Given the description of an element on the screen output the (x, y) to click on. 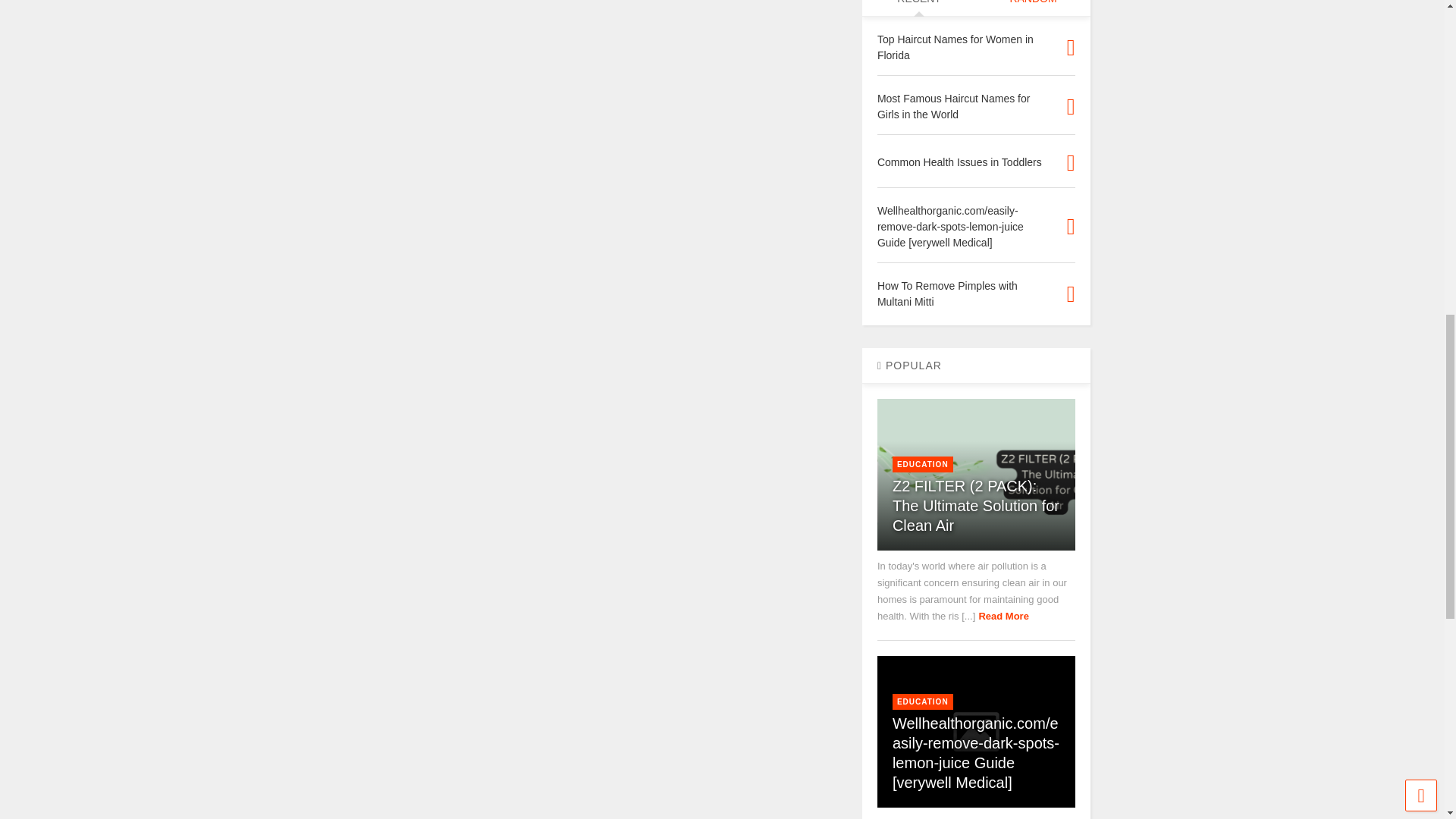
RANDOM (1032, 7)
Common Health Issues in Toddlers (959, 162)
Most Famous Haircut Names for Girls in the World (953, 106)
Top Haircut Names for Women in Florida (955, 47)
RECENT (918, 7)
